Given the description of an element on the screen output the (x, y) to click on. 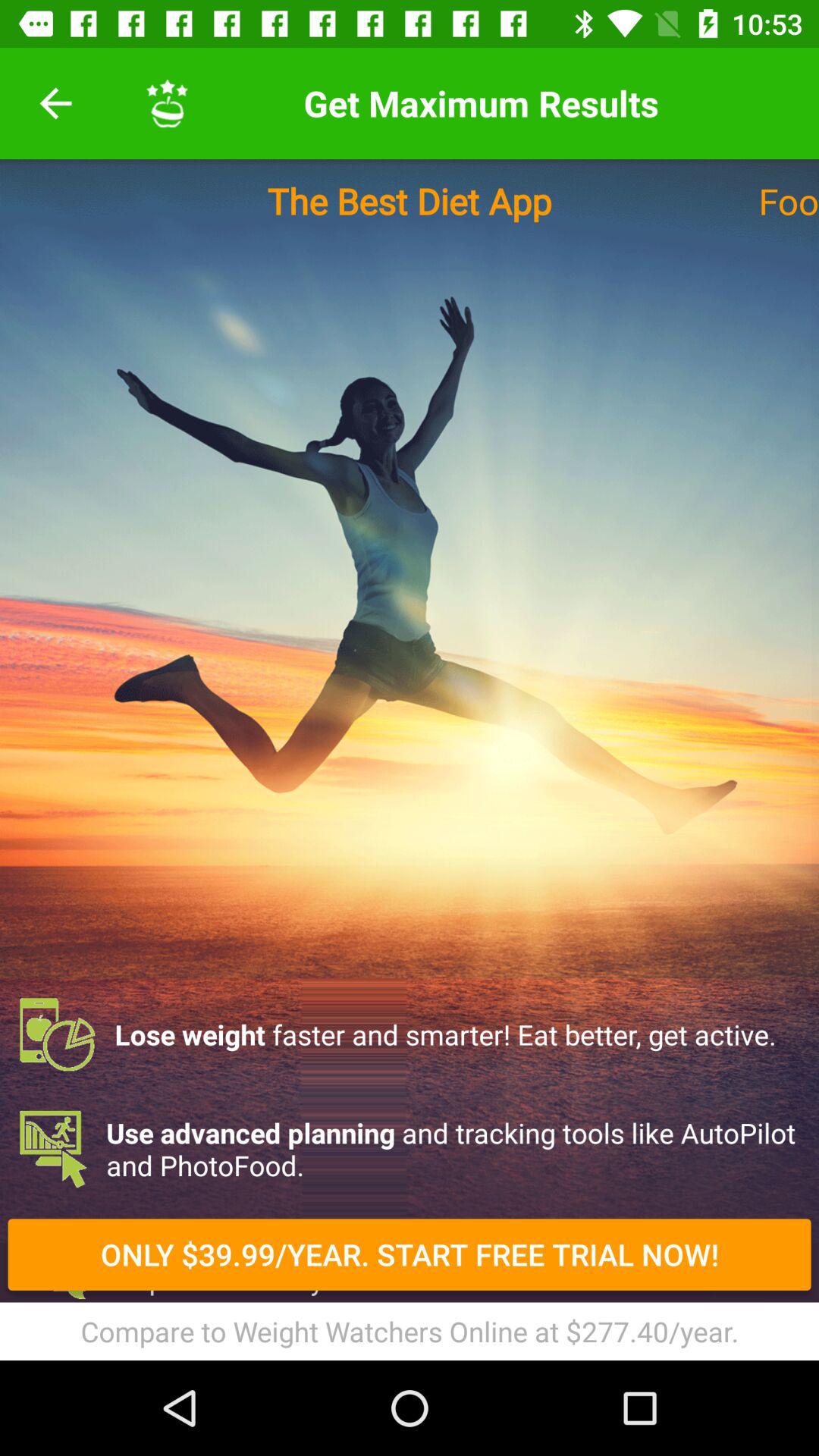
click the item above the compare to weight (409, 1254)
